Given the description of an element on the screen output the (x, y) to click on. 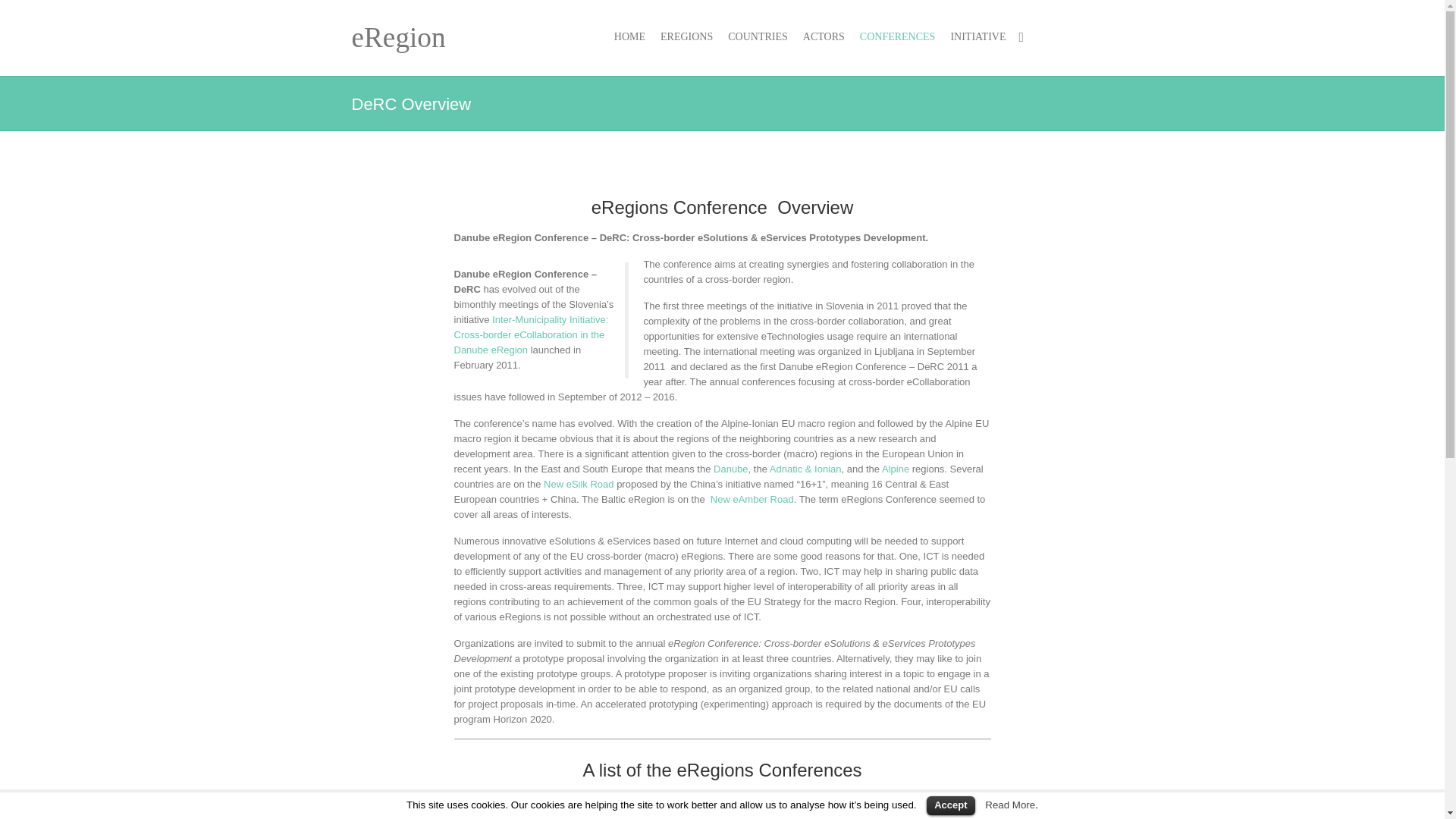
New Silk Road (578, 483)
eRegion (398, 37)
Danube Region (730, 469)
eRegion (398, 37)
Iniktiative (530, 334)
Adriatic Ionian Region (805, 469)
Alpine Region (897, 469)
CONFERENCES (898, 38)
